Given the description of an element on the screen output the (x, y) to click on. 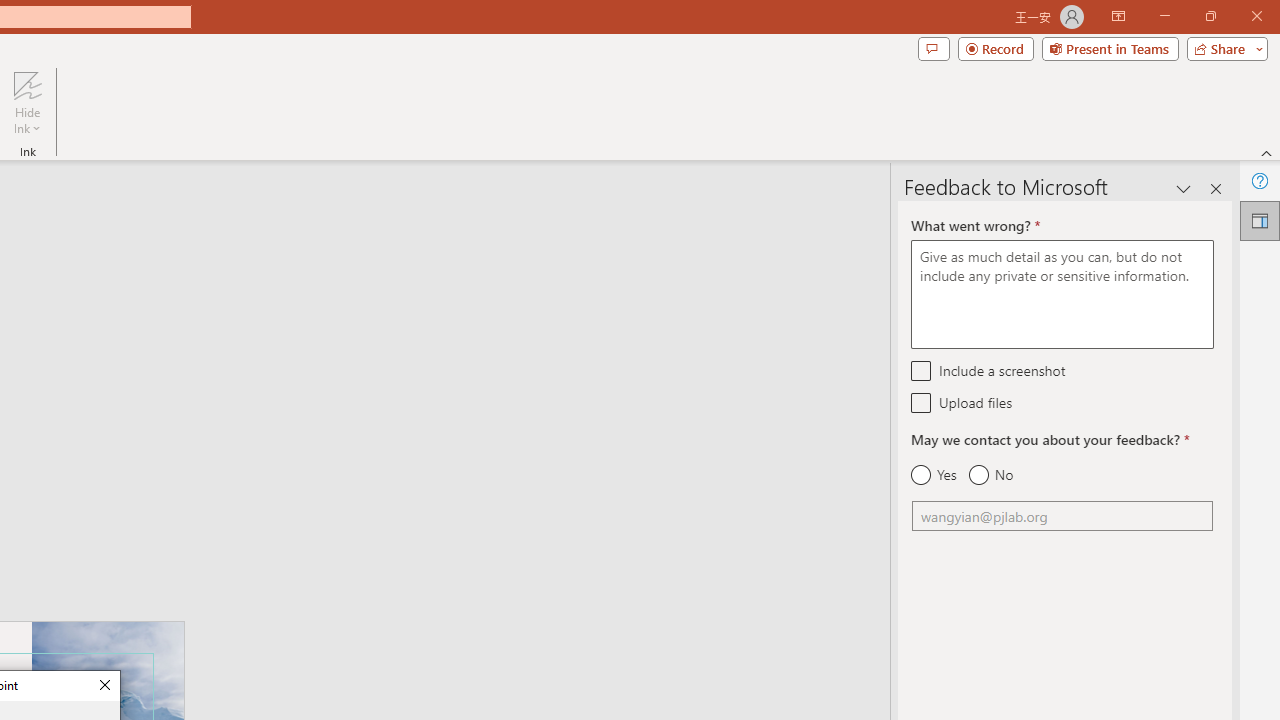
What went wrong? * (1062, 294)
Feedback to Microsoft (1260, 220)
Hide Ink (27, 84)
Yes (934, 475)
Upload files (921, 402)
Include a screenshot (921, 370)
